Given the description of an element on the screen output the (x, y) to click on. 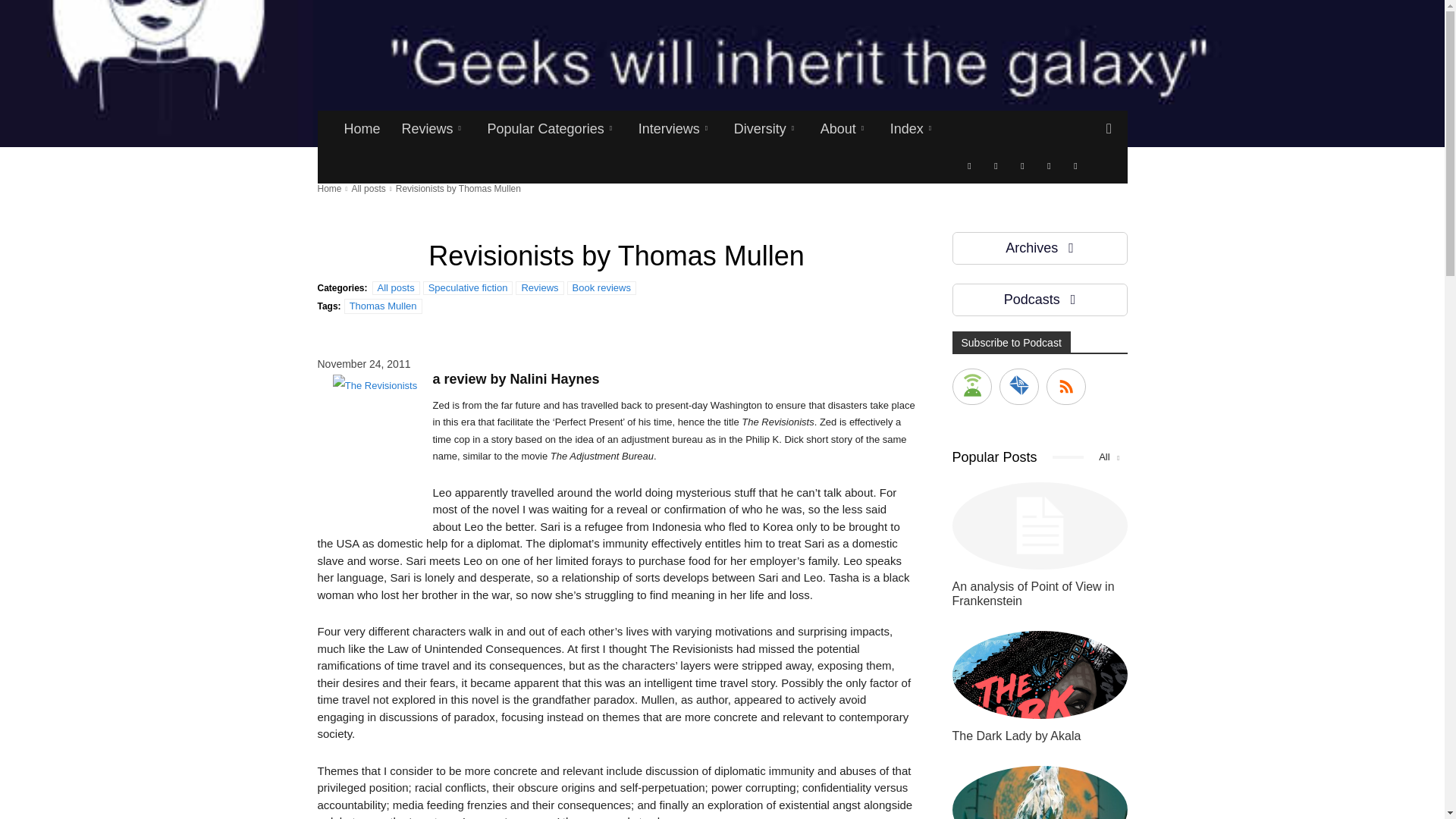
View all posts in All posts (367, 188)
